Given the description of an element on the screen output the (x, y) to click on. 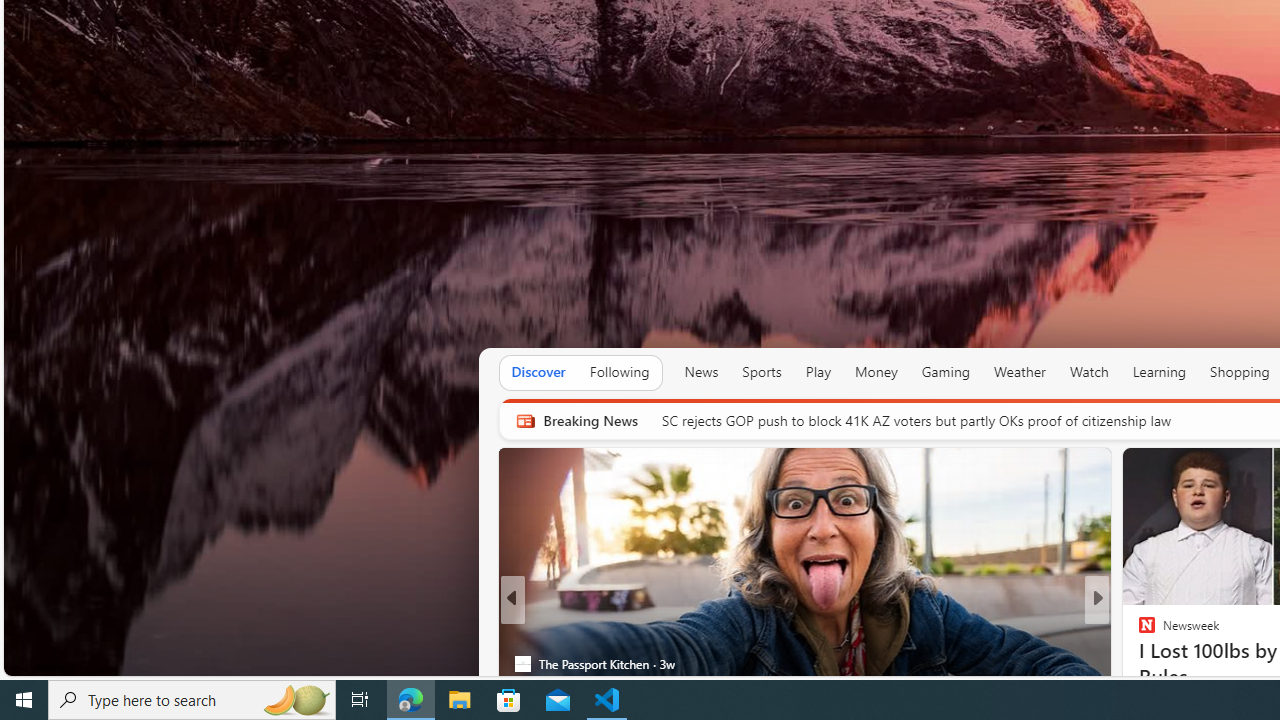
Shopping (1240, 371)
XDA Developers (1138, 632)
Watch (1089, 371)
Money (875, 371)
Nordace (1153, 663)
save70.com (1161, 632)
Popular Mechanics (1138, 632)
Play (818, 372)
Inquirer (1138, 663)
Gaming (945, 372)
Weather (1019, 372)
The Telegraph (1138, 663)
News (701, 371)
Verywell Mind (1138, 632)
